Given the description of an element on the screen output the (x, y) to click on. 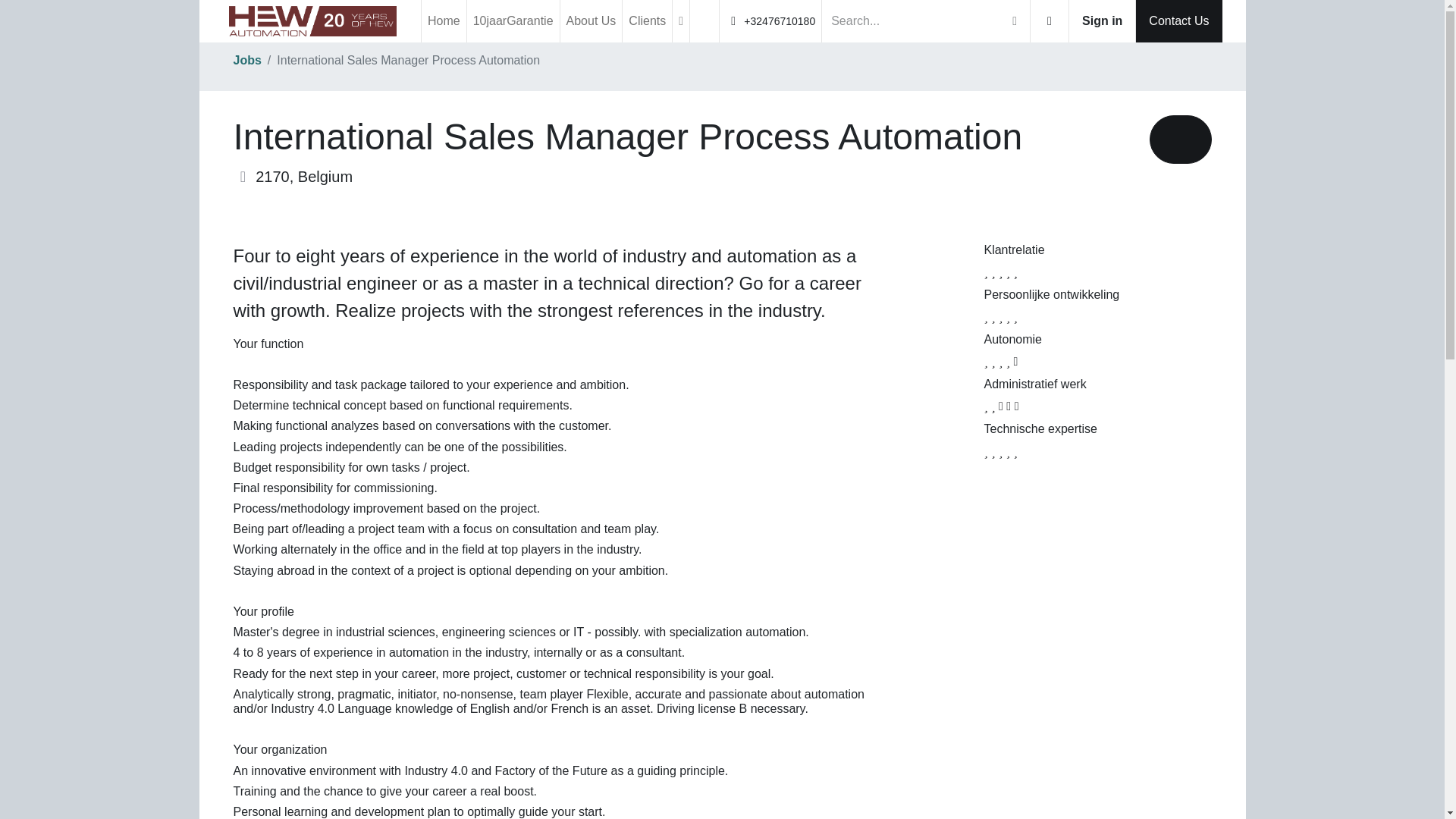
Sign in (1101, 21)
Home (443, 21)
10jaarGarantie (513, 21)
HeW-automation (312, 20)
Contact Us (1178, 21)
About Us (591, 21)
Clients (647, 21)
